Given the description of an element on the screen output the (x, y) to click on. 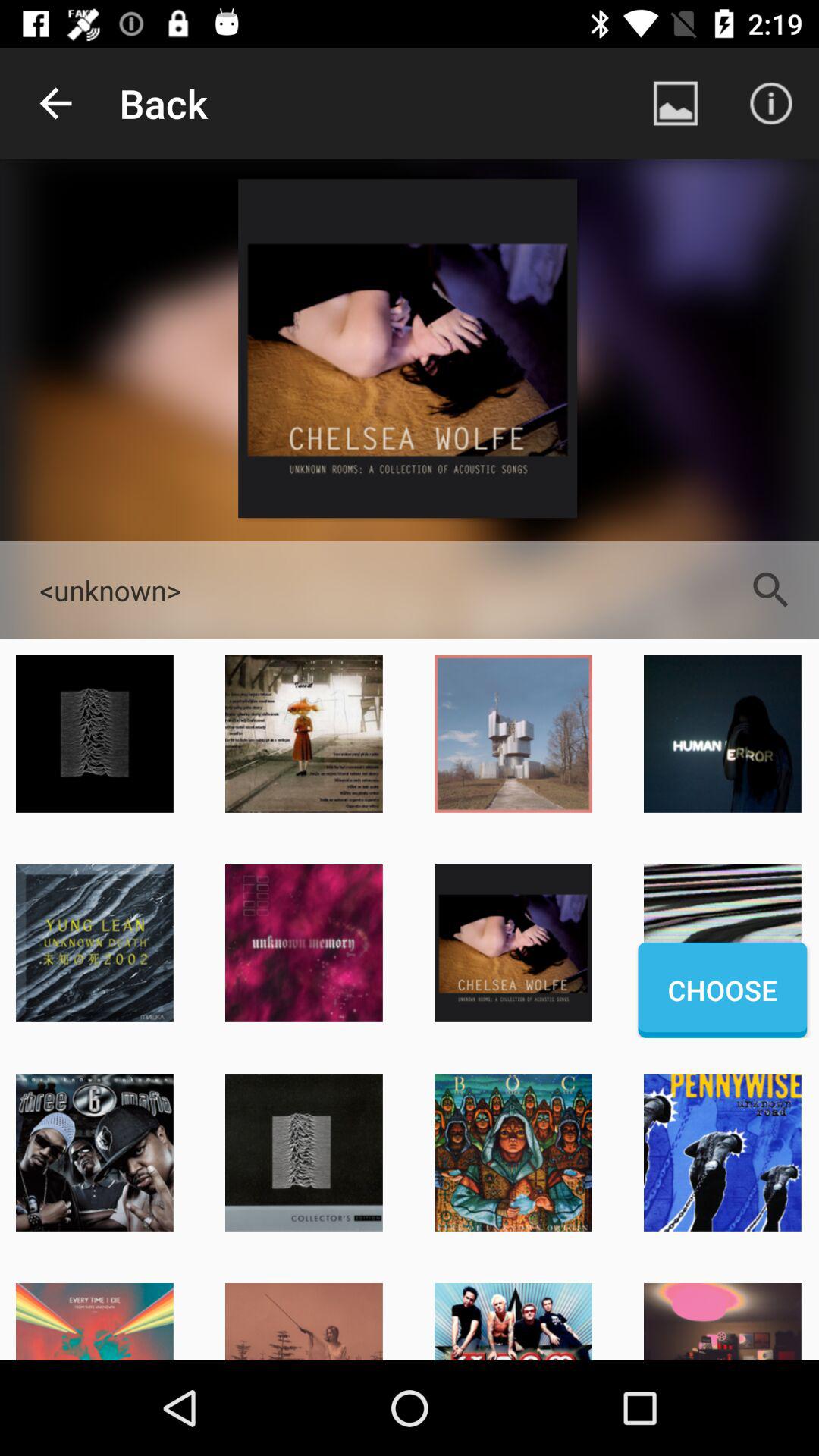
select the icon to the left of back icon (55, 103)
